Given the description of an element on the screen output the (x, y) to click on. 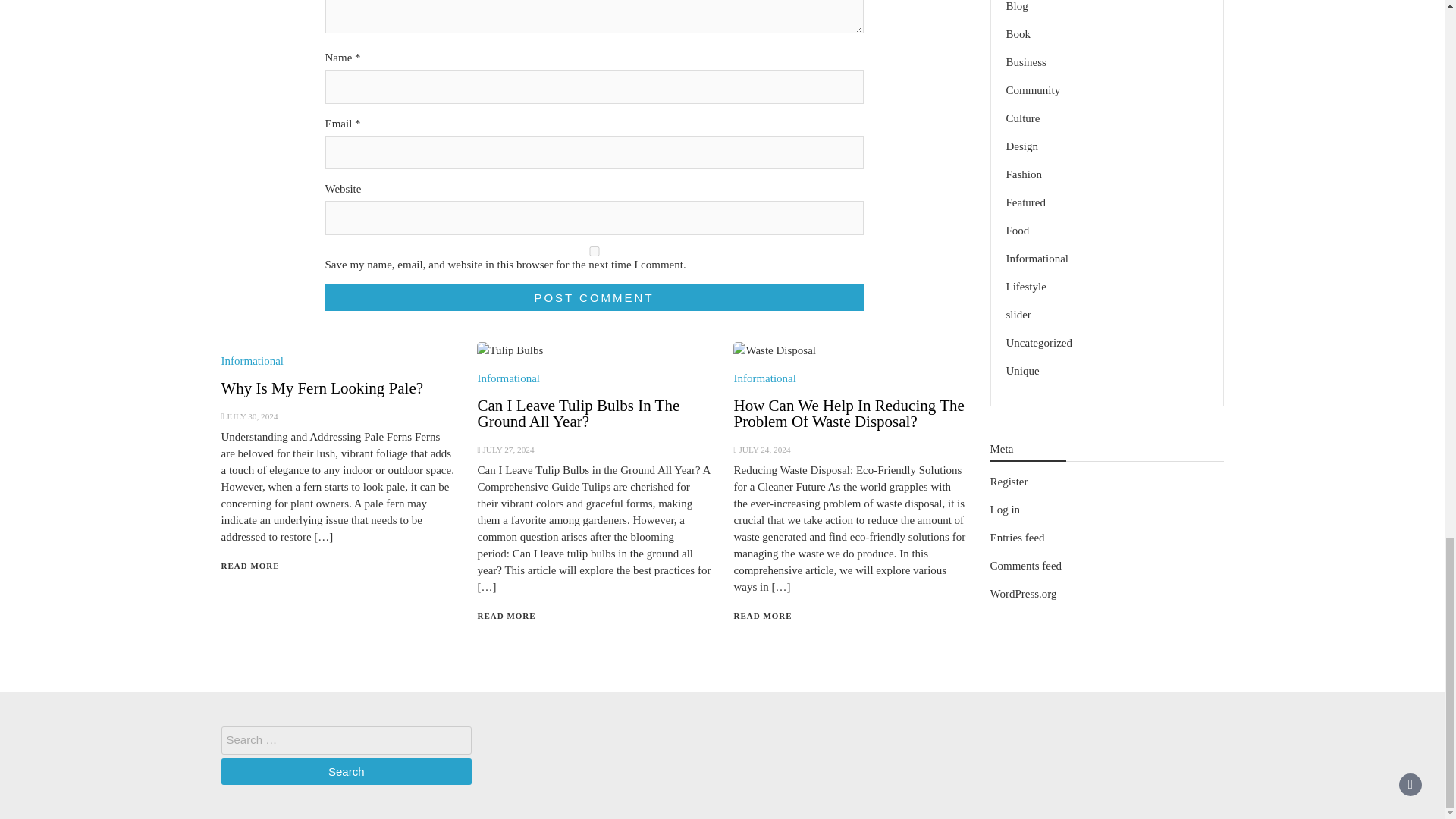
Why Is My Fern Looking Pale? (322, 388)
Search for: (346, 740)
Post Comment (593, 297)
Informational (507, 378)
READ MORE (762, 614)
JULY 30, 2024 (251, 415)
Search (346, 771)
JULY 27, 2024 (507, 449)
Search (346, 771)
yes (593, 251)
